Given the description of an element on the screen output the (x, y) to click on. 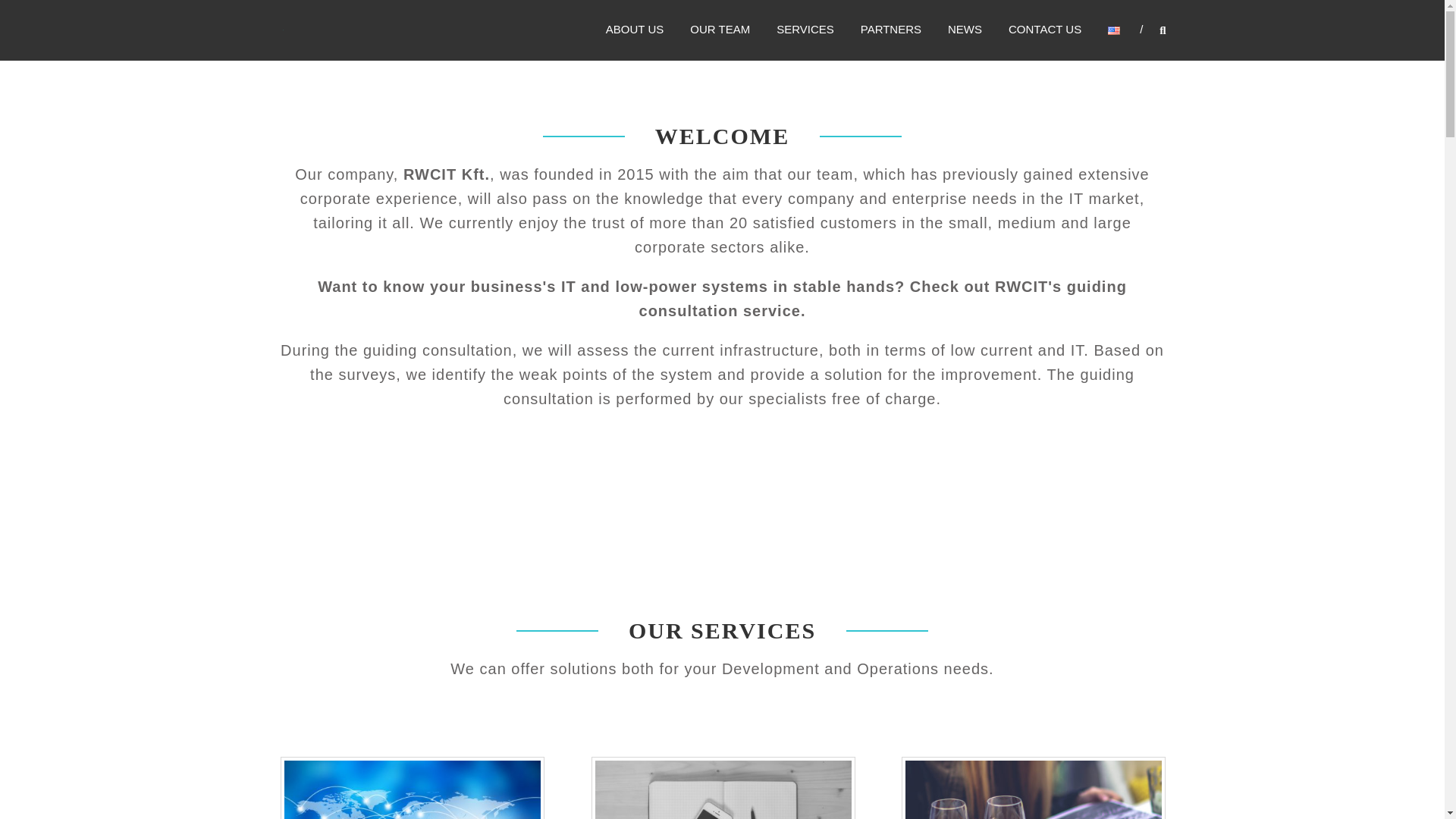
CONTACT US (1045, 29)
ABOUT US (634, 29)
Search (1232, 409)
PARTNERS (890, 29)
OUR TEAM (719, 29)
SERVICES (805, 29)
